Given the description of an element on the screen output the (x, y) to click on. 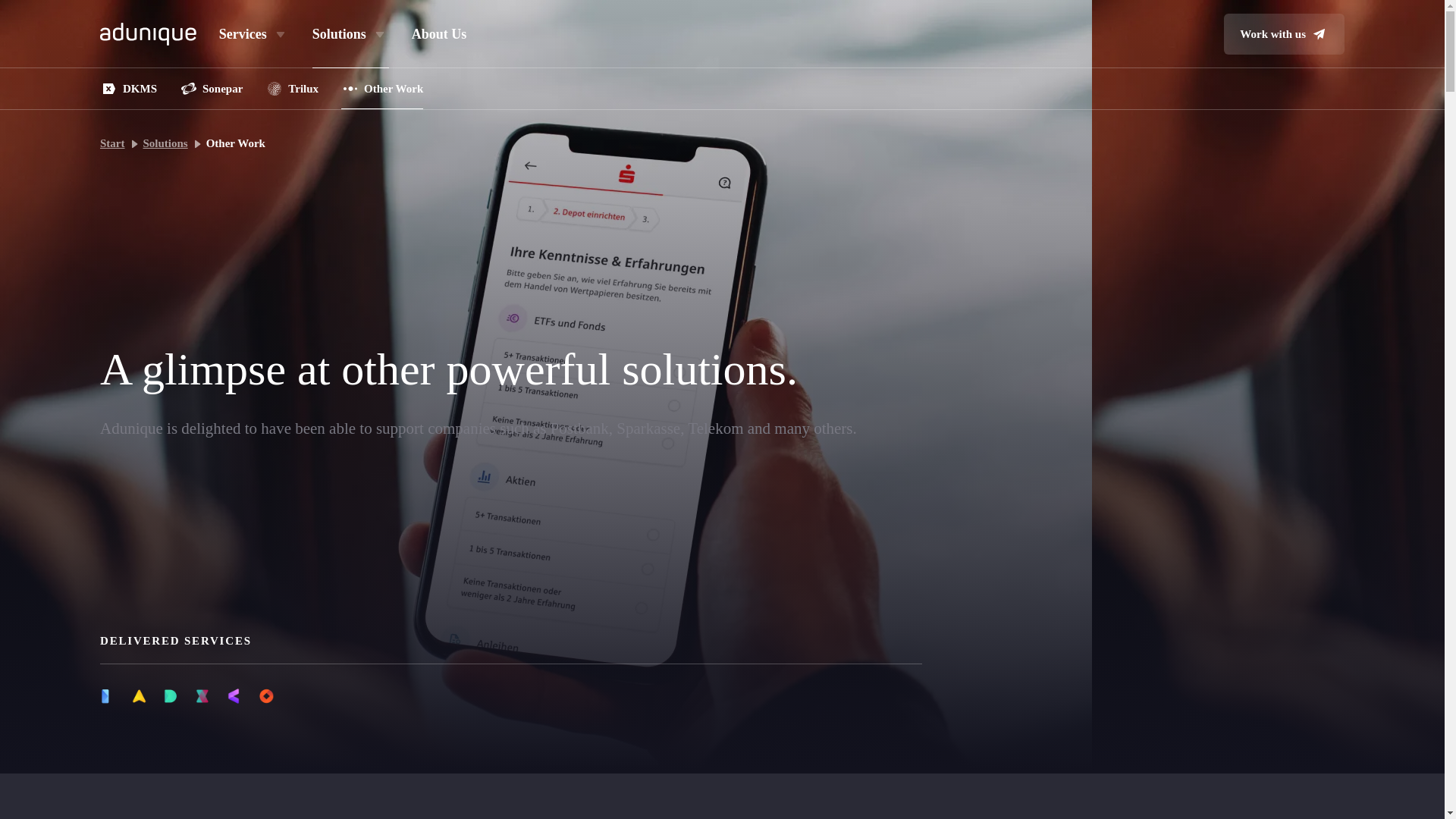
Solutions (350, 33)
DKMS (128, 87)
Work with us (1283, 33)
Other Work (381, 87)
Solutions (350, 33)
Solutions (164, 143)
Services (254, 33)
Services (254, 33)
Sonepar (211, 87)
Start (112, 143)
